Given the description of an element on the screen output the (x, y) to click on. 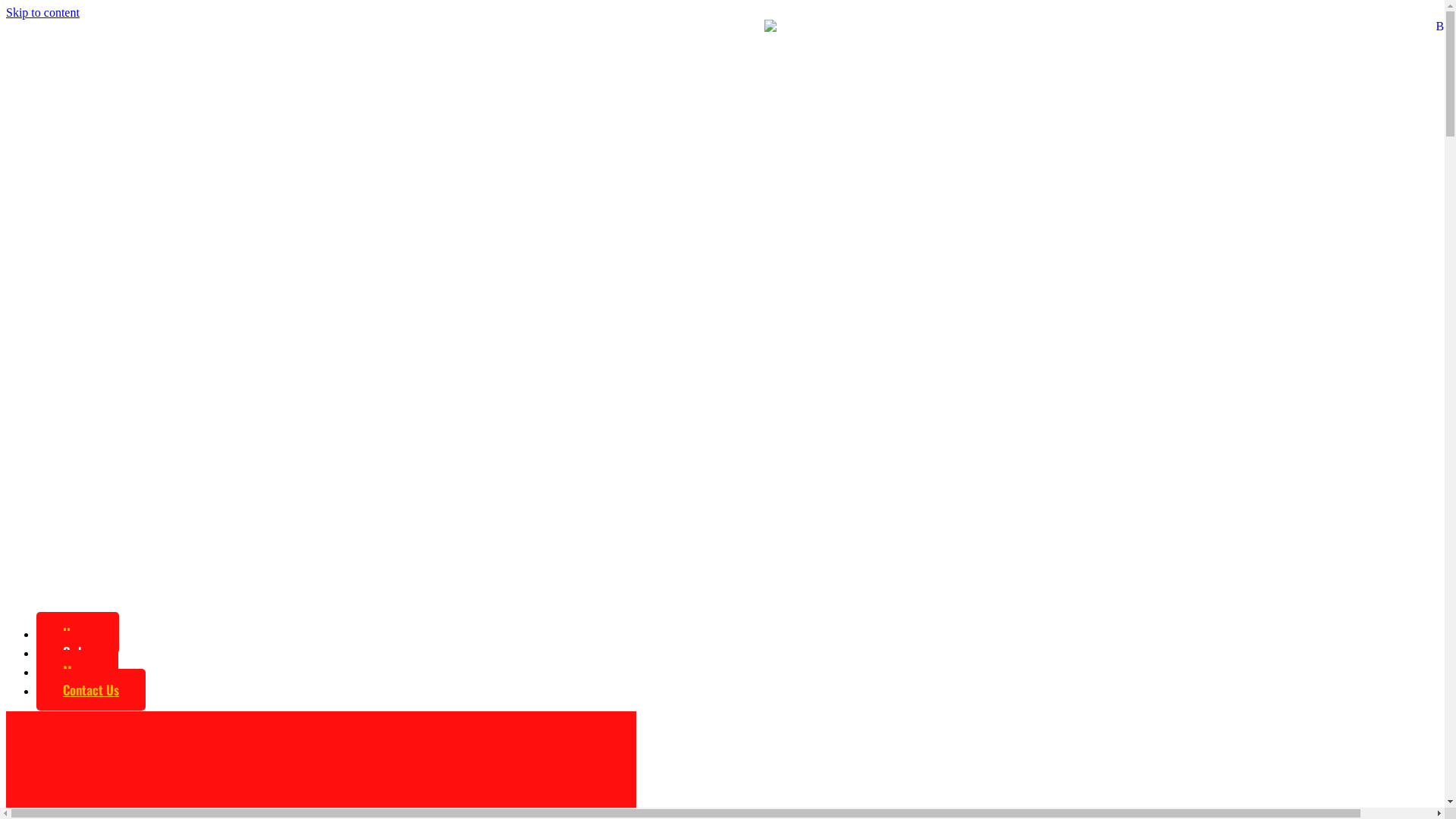
Contact Us Element type: text (90, 689)
Home Element type: text (77, 632)
Skip to content Element type: text (42, 12)
Order Element type: text (77, 651)
Menu Element type: text (76, 670)
